Given the description of an element on the screen output the (x, y) to click on. 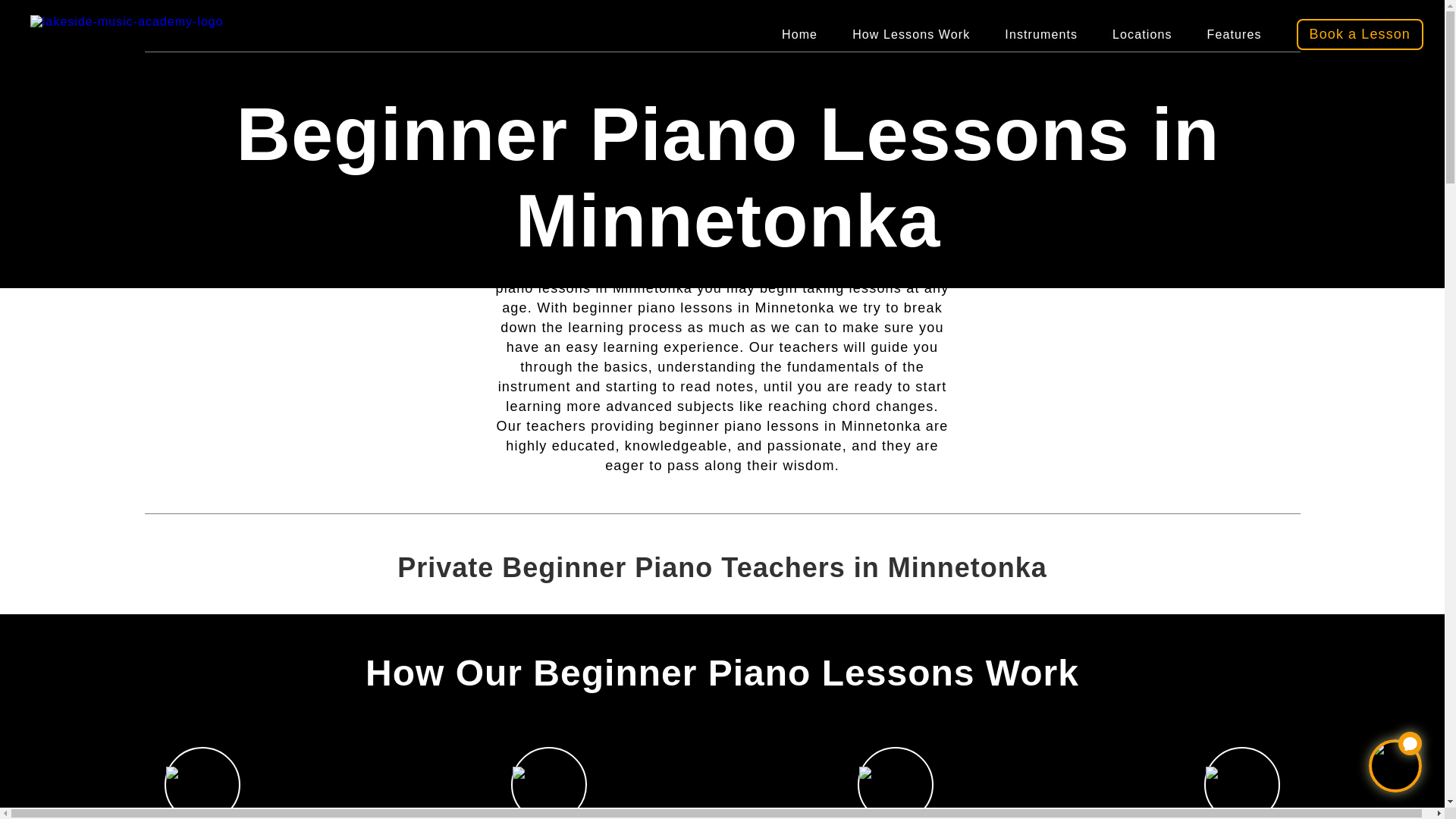
Home (798, 34)
Instruments (1040, 34)
Book a Lesson (1360, 33)
Features (1234, 34)
How Lessons Work (910, 34)
Locations (1142, 34)
